Given the description of an element on the screen output the (x, y) to click on. 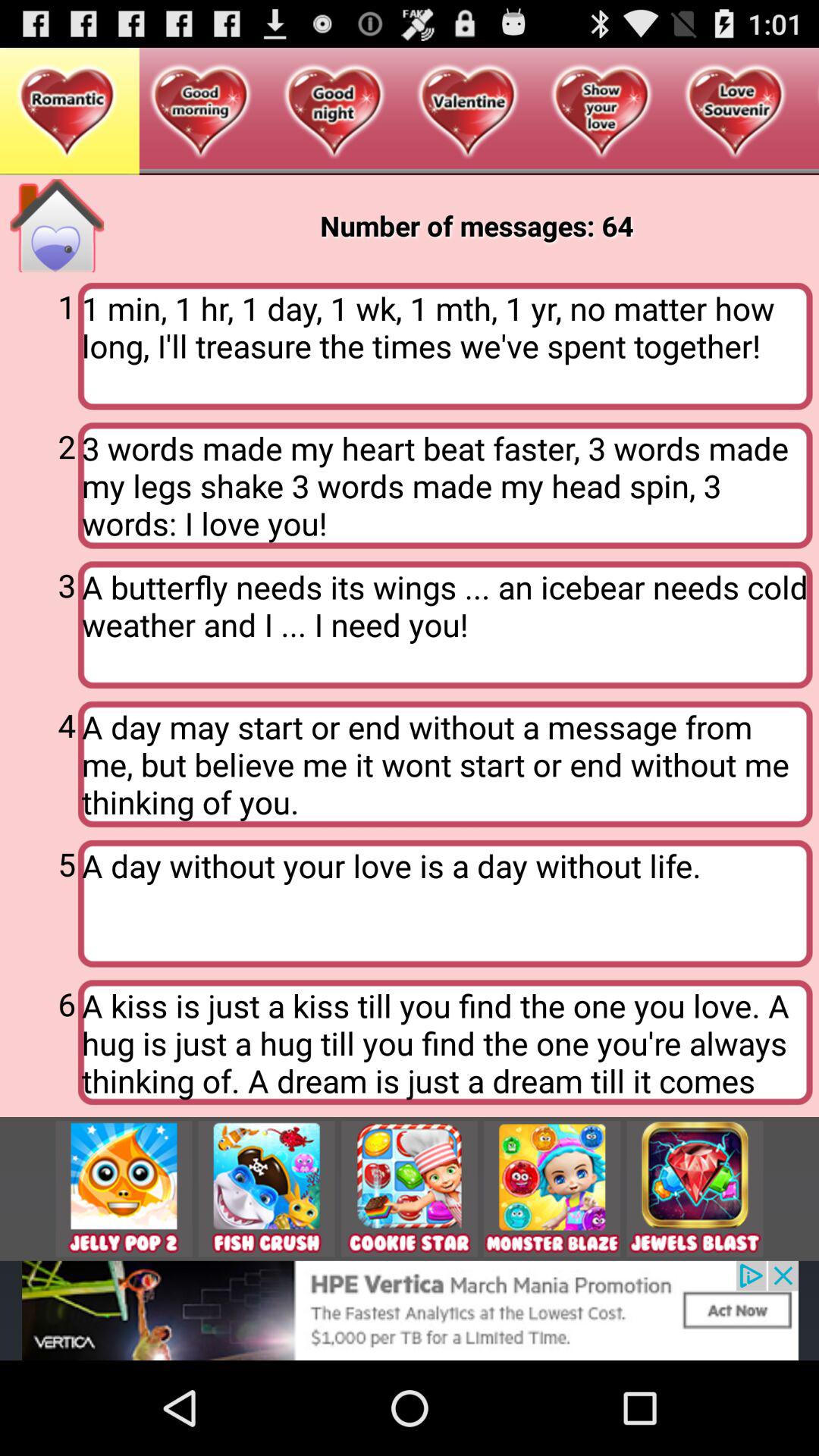
click the image cookie star (409, 1189)
select the love symbol show your love (601, 112)
select third heart from the page (333, 112)
click on the second image from the left at the bottom of the page (266, 1189)
click on the second image from the right at the bottom of the page (551, 1189)
click on jelly pop 2 (124, 1189)
